Given the description of an element on the screen output the (x, y) to click on. 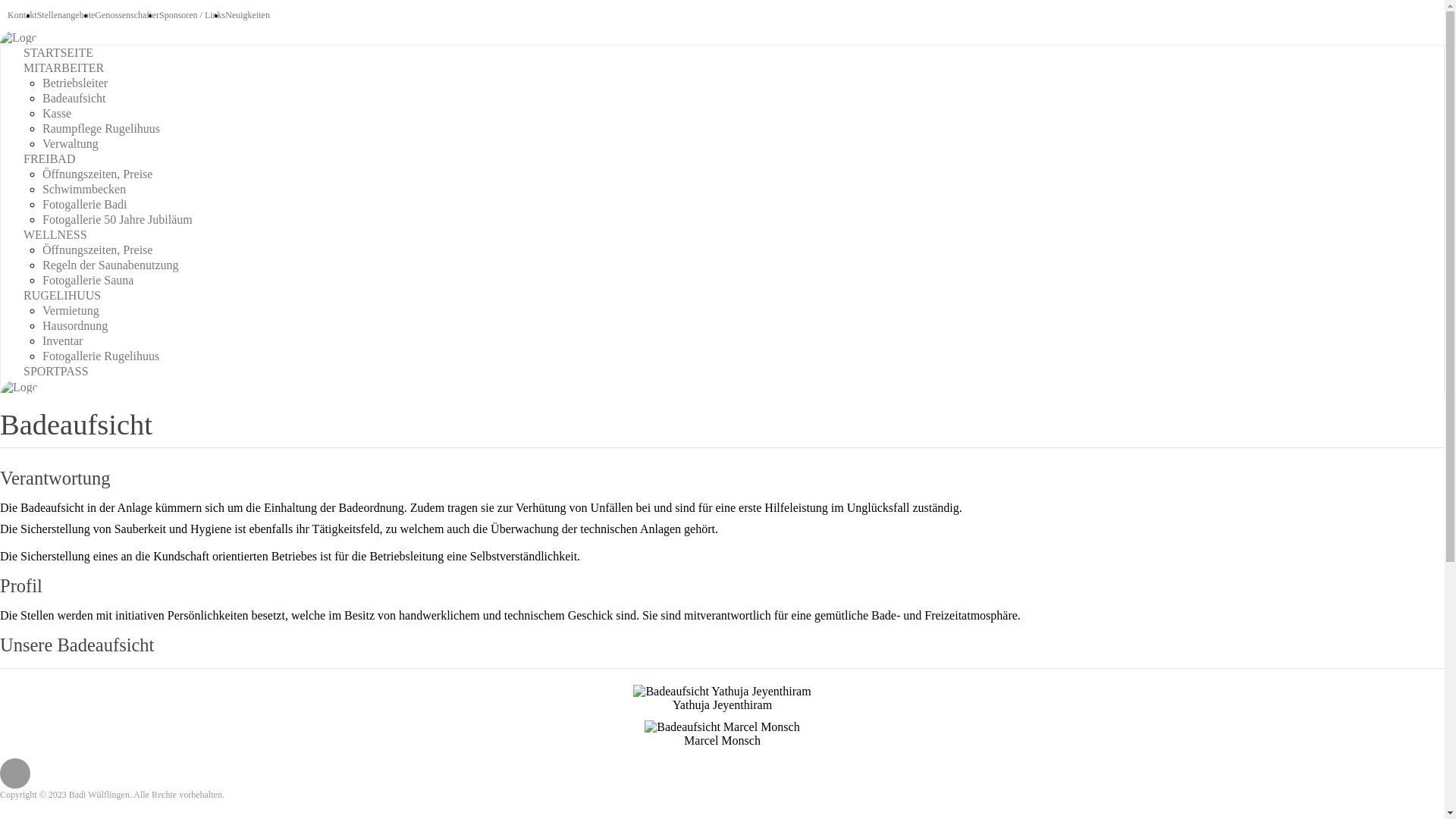
Kasse Element type: text (56, 112)
Inventar Element type: text (62, 340)
WELLNESS Element type: text (55, 234)
Badeaufsicht Element type: text (74, 97)
Verwaltung Element type: text (70, 143)
Neuigkeiten Element type: text (247, 14)
Fotogallerie Badi Element type: text (84, 203)
MITARBEITER Element type: text (63, 67)
Fotogallerie Sauna Element type: text (87, 279)
Vermietung Element type: text (70, 310)
Genossenschafter Element type: text (126, 14)
RUGELIHUUS Element type: text (61, 294)
Betriebsleiter Element type: text (74, 82)
Fotogallerie Rugelihuus Element type: text (100, 355)
Hausordnung Element type: text (74, 325)
STARTSEITE Element type: text (58, 52)
Sponsoren / Links Element type: text (192, 14)
Badeaufsicht Yathuja Jeyenthiram Element type: hover (721, 691)
Badeaufsicht Marcel Monsch Element type: hover (721, 727)
Kontakt Element type: text (22, 14)
Raumpflege Rugelihuus Element type: text (101, 128)
Regeln der Saunabenutzung Element type: text (110, 264)
FREIBAD Element type: text (49, 158)
Stellenangebote Element type: text (66, 14)
SPORTPASS Element type: text (55, 370)
Schwimmbecken Element type: text (83, 188)
